Given the description of an element on the screen output the (x, y) to click on. 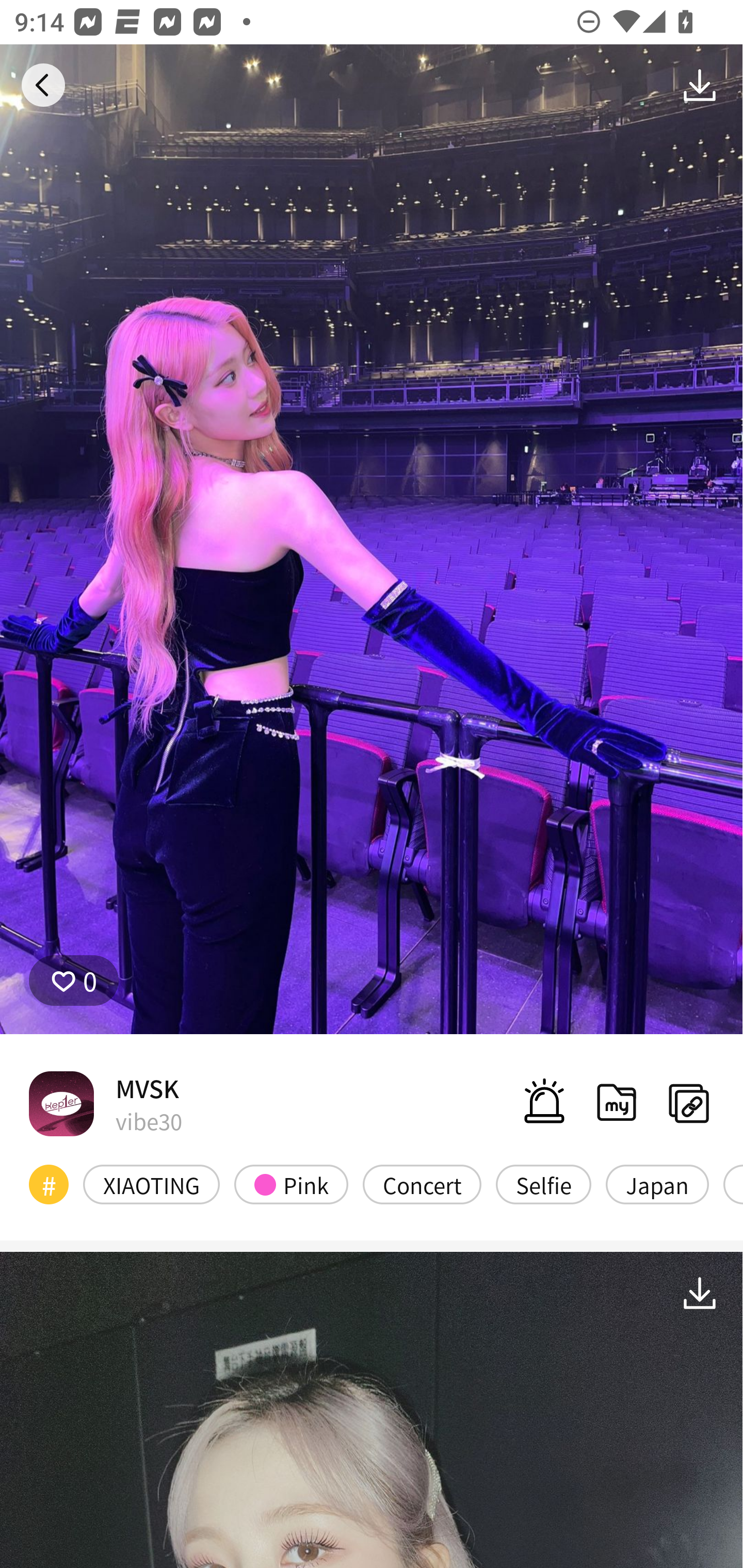
0 (73, 980)
MVSK vibe30 (105, 1102)
XIAOTING (151, 1184)
Pink (291, 1184)
Concert (421, 1184)
Selfie (543, 1184)
Japan (656, 1184)
